Given the description of an element on the screen output the (x, y) to click on. 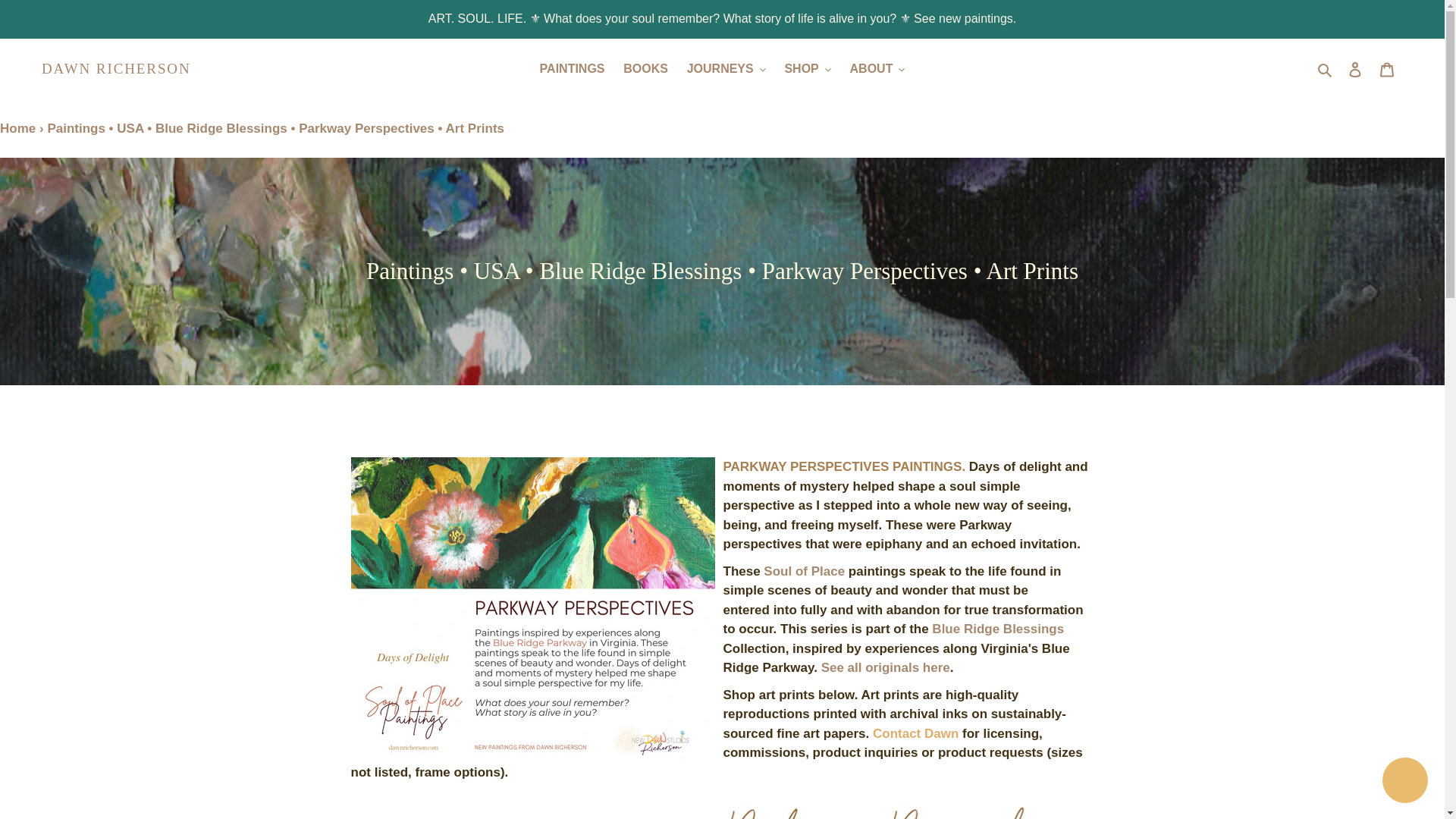
DAWN RICHERSON (116, 68)
Original paintings by Dawn Richerson (885, 667)
Contact Dawn Richerson (915, 734)
Shopify online store chat (1404, 781)
SHOP (807, 68)
Cart (1387, 68)
ABOUT (877, 68)
Log in (1355, 68)
PAINTINGS (572, 68)
